Given the description of an element on the screen output the (x, y) to click on. 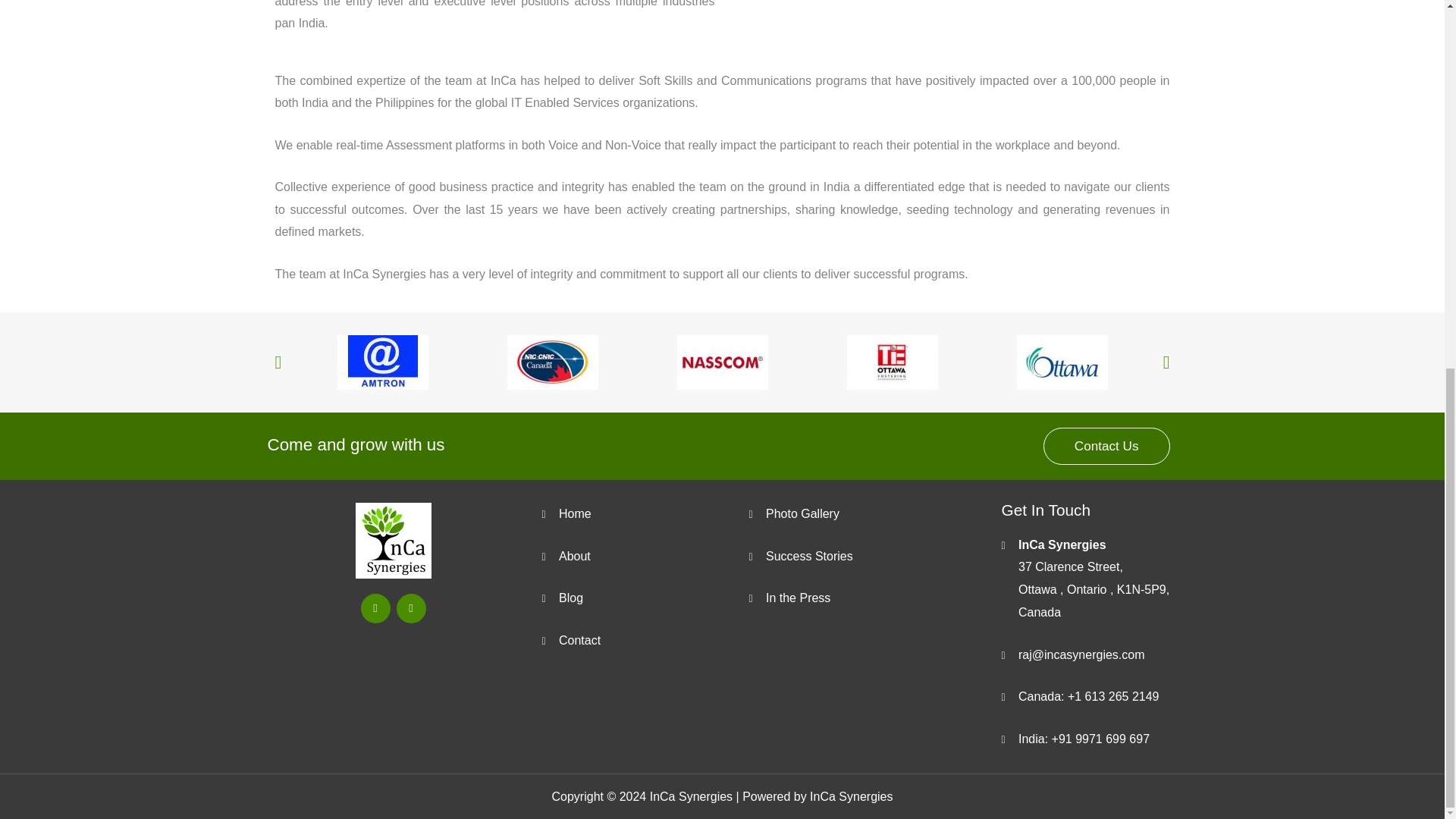
LOGO-IncaSynergies (392, 540)
